Given the description of an element on the screen output the (x, y) to click on. 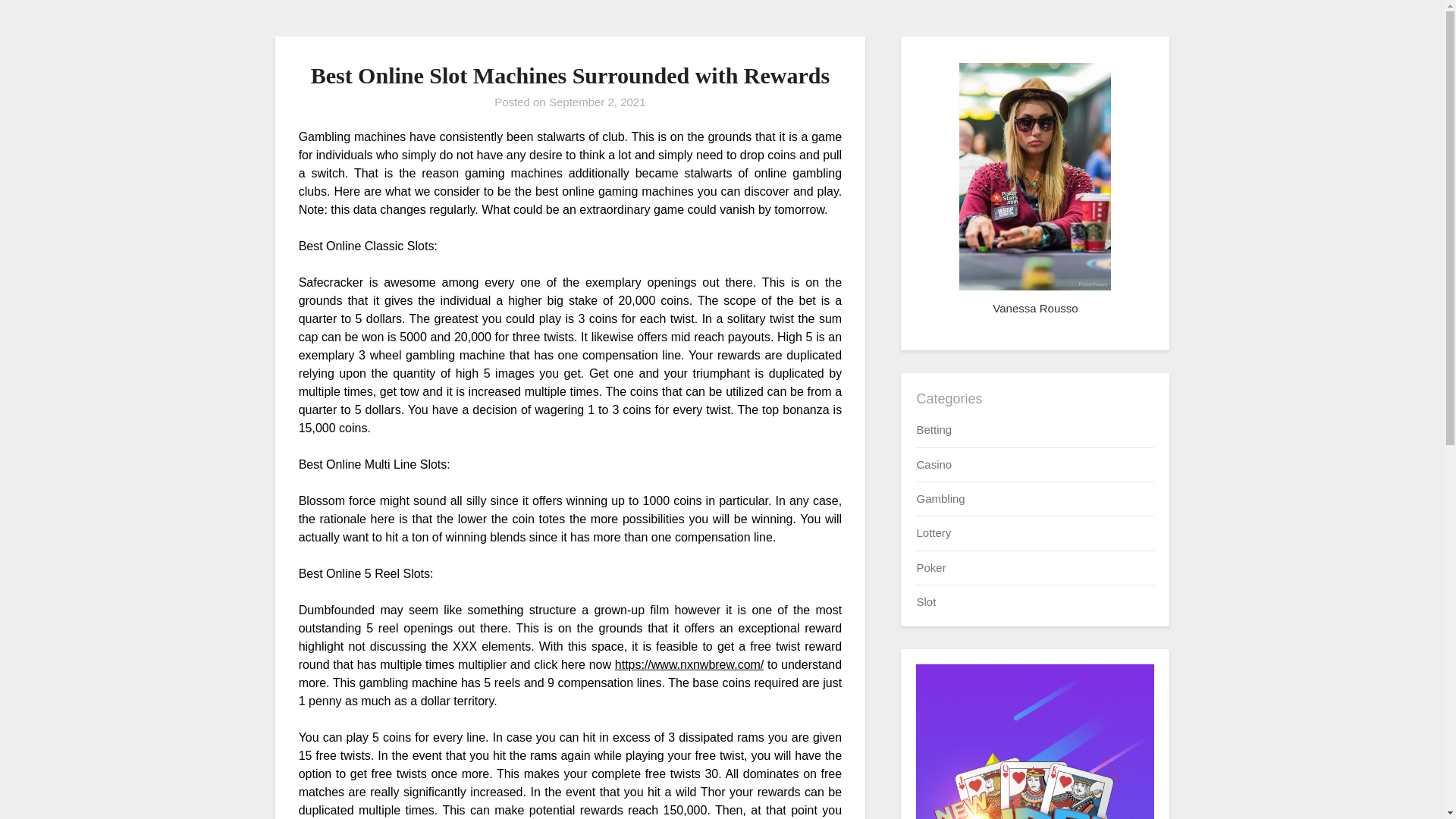
Slot (925, 601)
Gambling (939, 498)
Casino (933, 463)
Lottery (932, 532)
September 2, 2021 (597, 101)
Betting (933, 429)
Poker (929, 567)
